Given the description of an element on the screen output the (x, y) to click on. 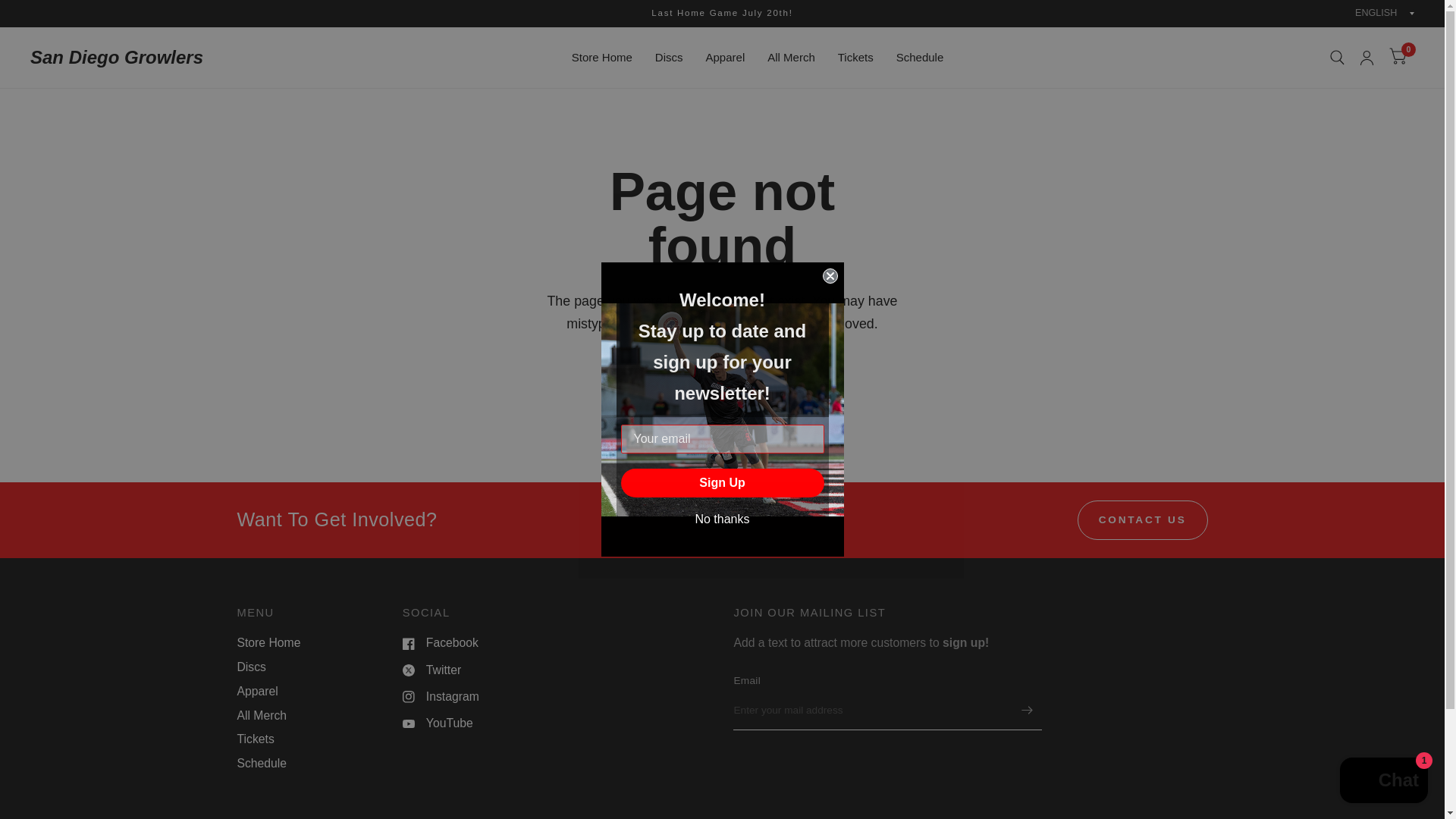
Store Home (267, 642)
Contact Us (1142, 519)
CONTINUE SHOPPING (721, 386)
Instagram (441, 697)
Schedule (260, 762)
Facebook (441, 643)
All Merch (791, 57)
Schedule (919, 57)
Tickets (855, 57)
Apparel (725, 57)
Schedule (260, 762)
Discs (249, 666)
CONTACT US (1142, 519)
Discs (249, 666)
My Account (1366, 57)
